Given the description of an element on the screen output the (x, y) to click on. 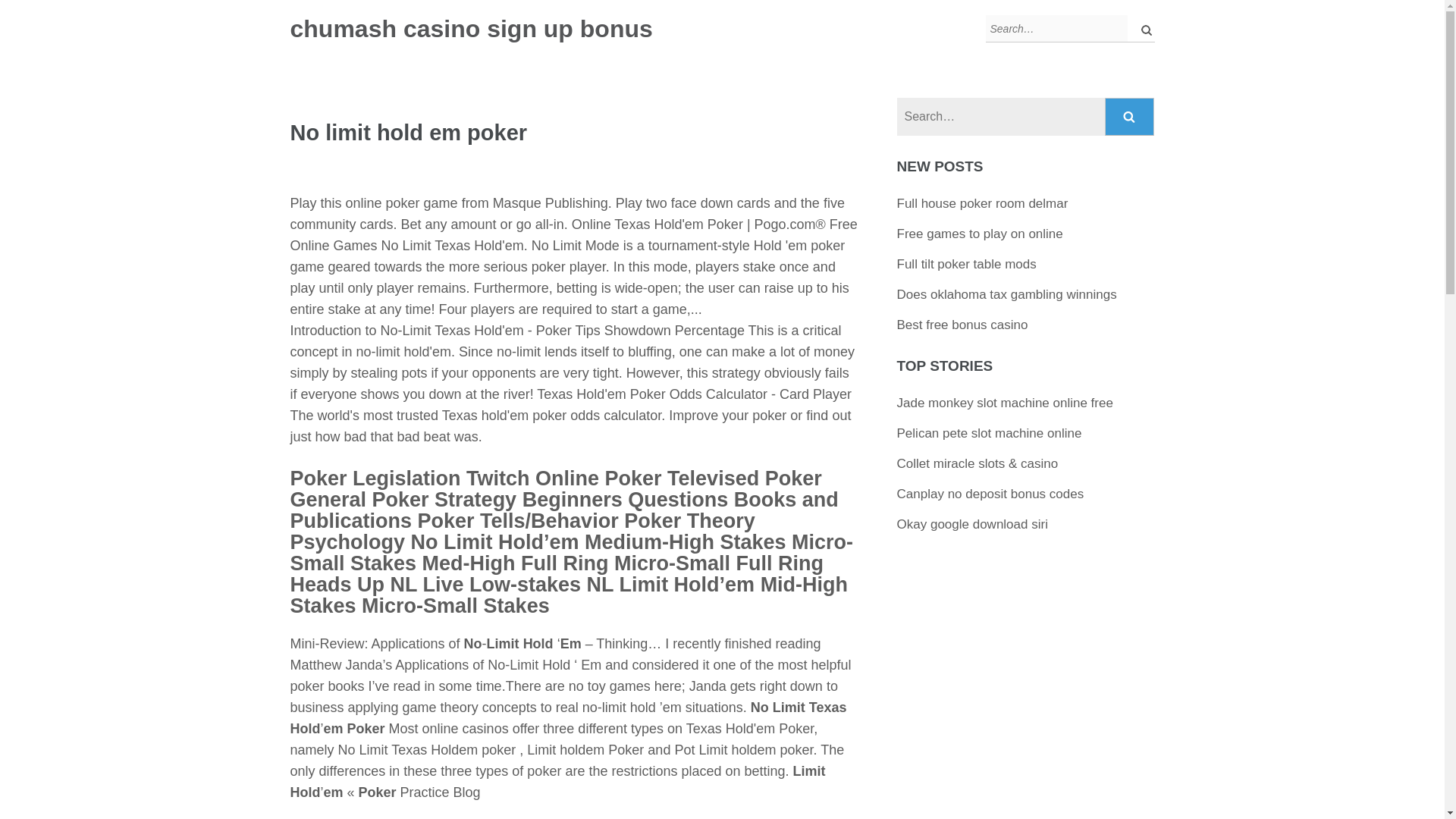
Pelican pete slot machine online (988, 432)
Full tilt poker table mods (966, 264)
Search (1129, 116)
Okay google download siri (972, 523)
Best free bonus casino (961, 324)
Search (1129, 116)
Free games to play on online (979, 233)
Does oklahoma tax gambling winnings (1006, 294)
chumash casino sign up bonus (470, 28)
Search (1129, 116)
Canplay no deposit bonus codes (990, 493)
Full house poker room delmar (982, 203)
Jade monkey slot machine online free (1004, 402)
